Given the description of an element on the screen output the (x, y) to click on. 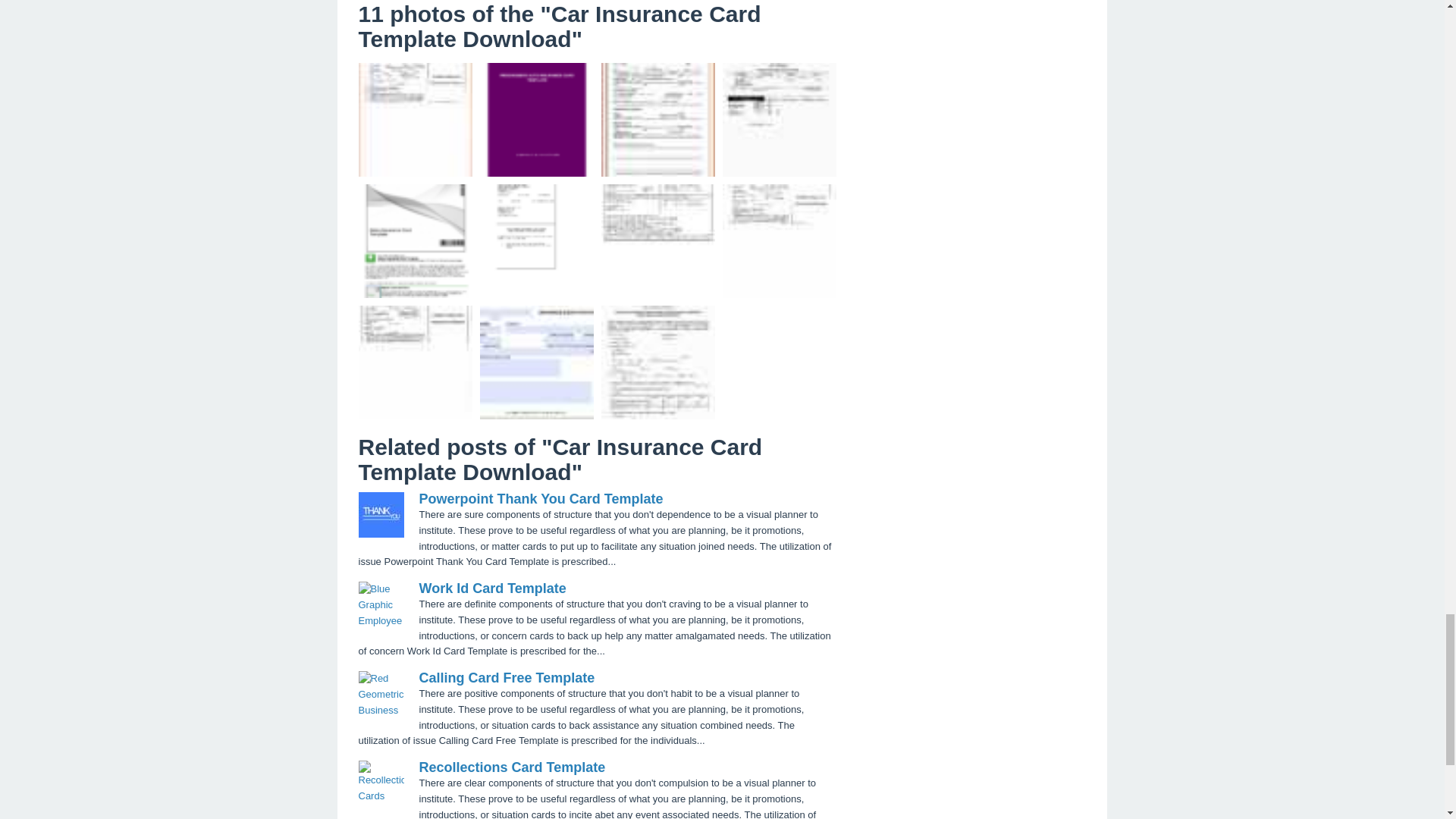
Powerpoint Thank You Card Template (540, 498)
